Given the description of an element on the screen output the (x, y) to click on. 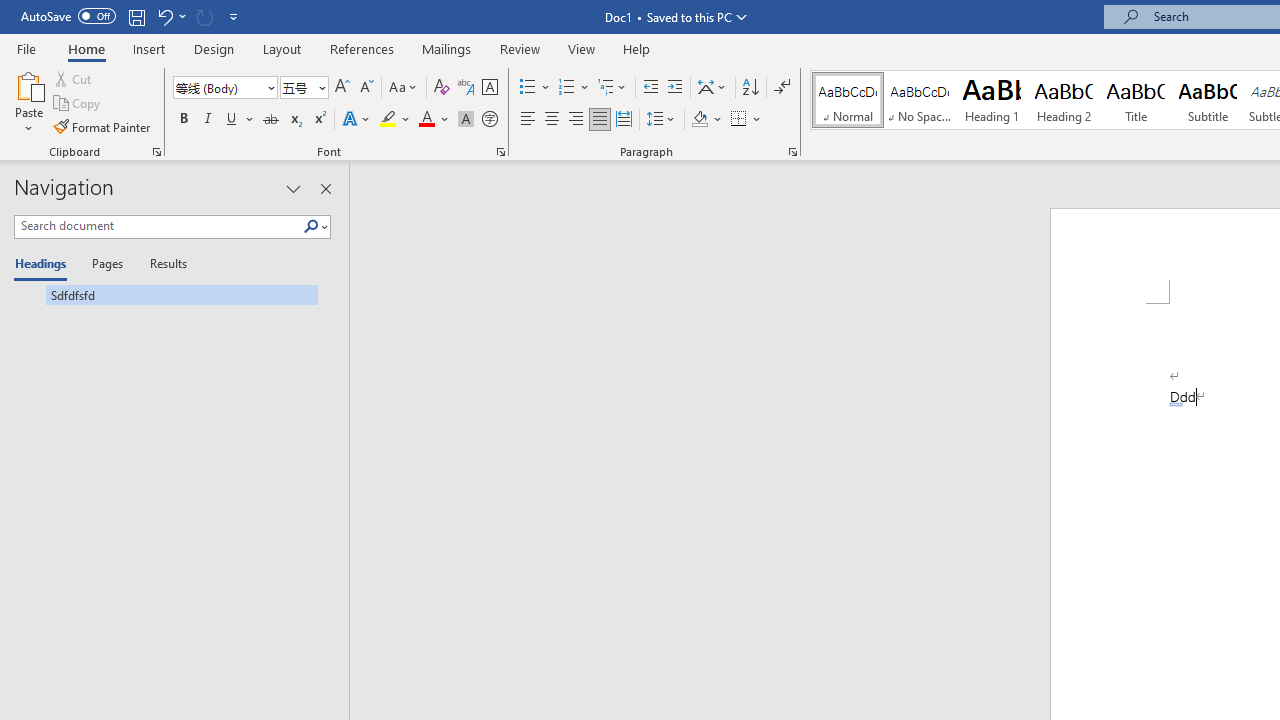
Can't Repeat (204, 15)
